Given the description of an element on the screen output the (x, y) to click on. 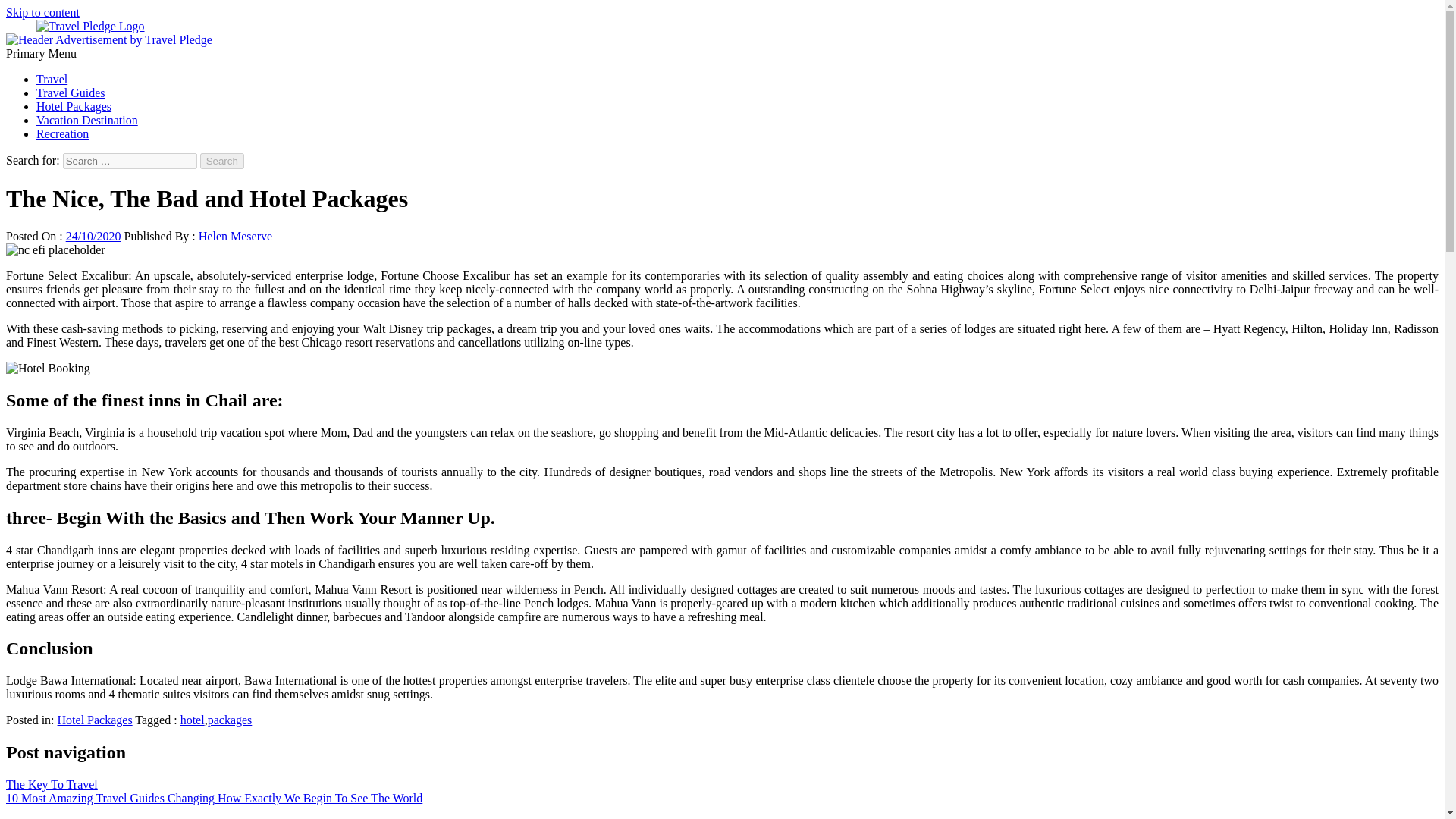
The Nice, The Bad and Hotel Packages (47, 368)
Search (222, 160)
The Key To Travel (51, 784)
Travel Guides (70, 92)
Hotel Packages (74, 106)
Travel Pledge (178, 25)
Primary Menu (41, 52)
Search (222, 160)
Popular (55, 818)
Hotel Packages (95, 719)
hotel (192, 719)
Skip to content (42, 11)
packages (229, 719)
Search (222, 160)
